Given the description of an element on the screen output the (x, y) to click on. 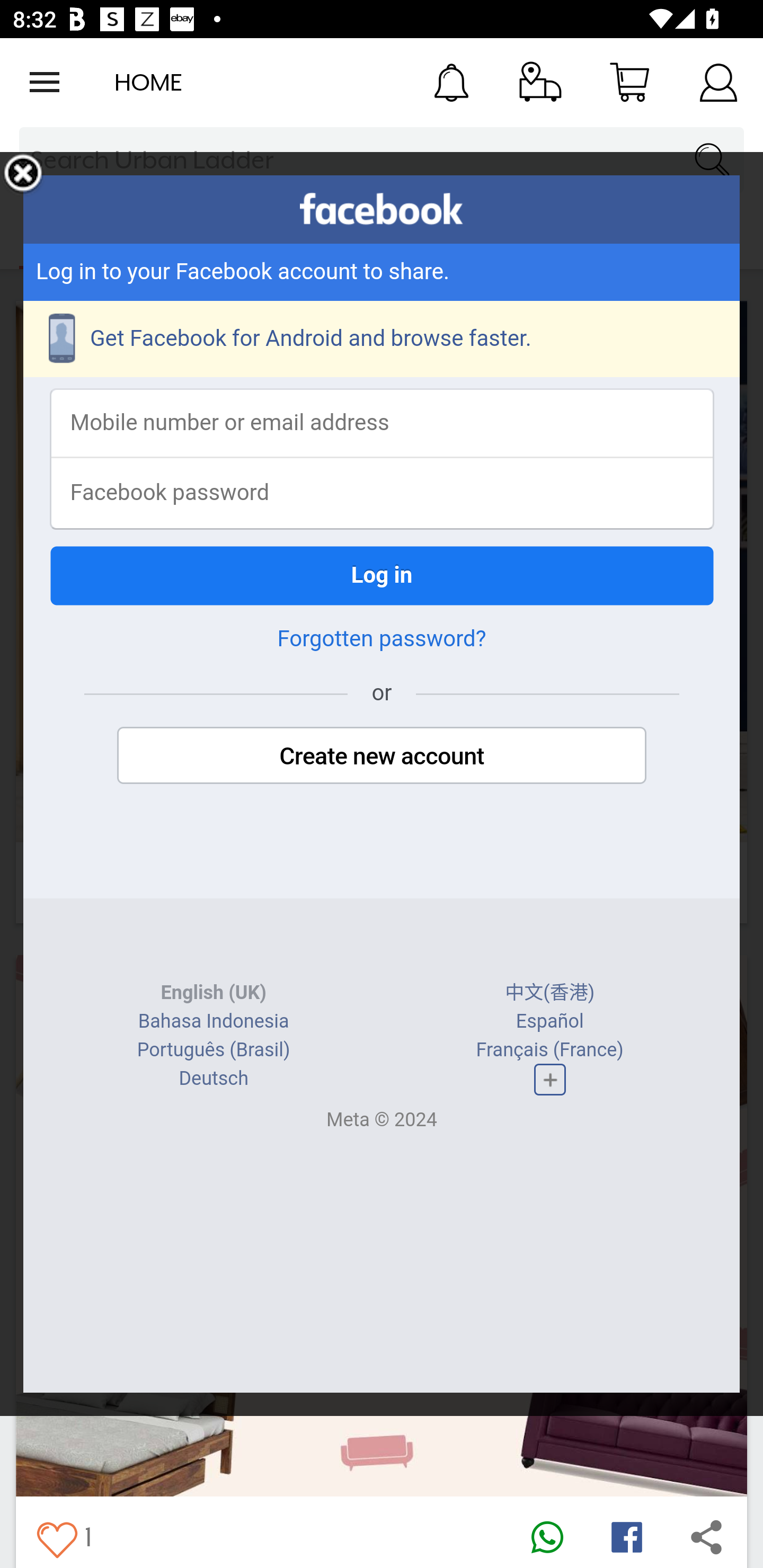
facebook (381, 208)
Get Facebook for Android and browse faster. (381, 339)
Log in (381, 575)
Forgotten password? (381, 638)
Create new account (381, 755)
中文(香港) (550, 993)
Bahasa Indonesia (214, 1021)
Español (549, 1021)
Português (Brasil) (212, 1049)
Français (France) (549, 1049)
Complete list of languages (548, 1079)
Deutsch (212, 1078)
